Given the description of an element on the screen output the (x, y) to click on. 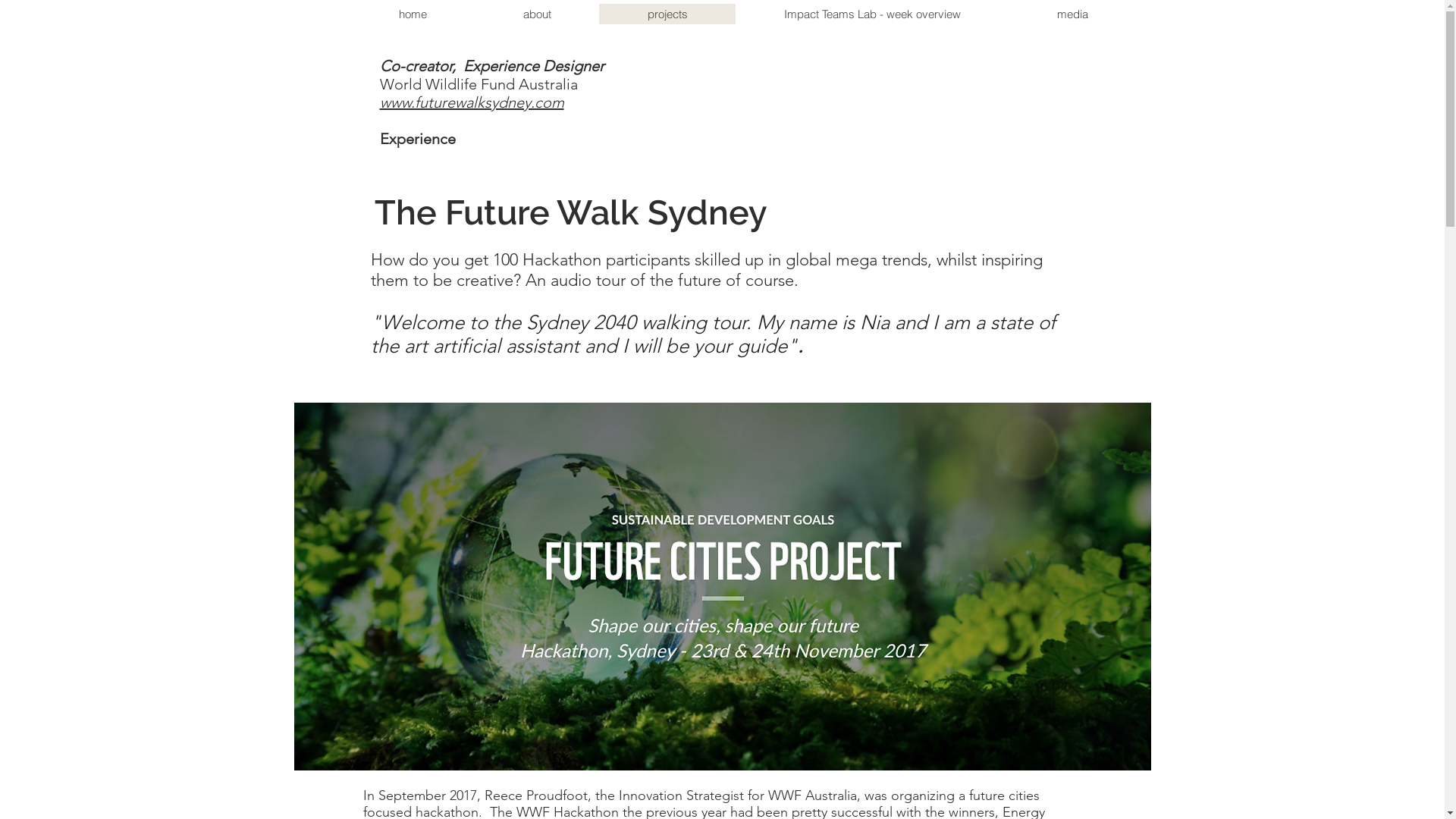
home Element type: text (411, 13)
www.futurewalksydney.com Element type: text (471, 102)
about Element type: text (536, 13)
media Element type: text (1071, 13)
Impact Teams Lab - week overview Element type: text (871, 13)
projects Element type: text (667, 13)
